Given the description of an element on the screen output the (x, y) to click on. 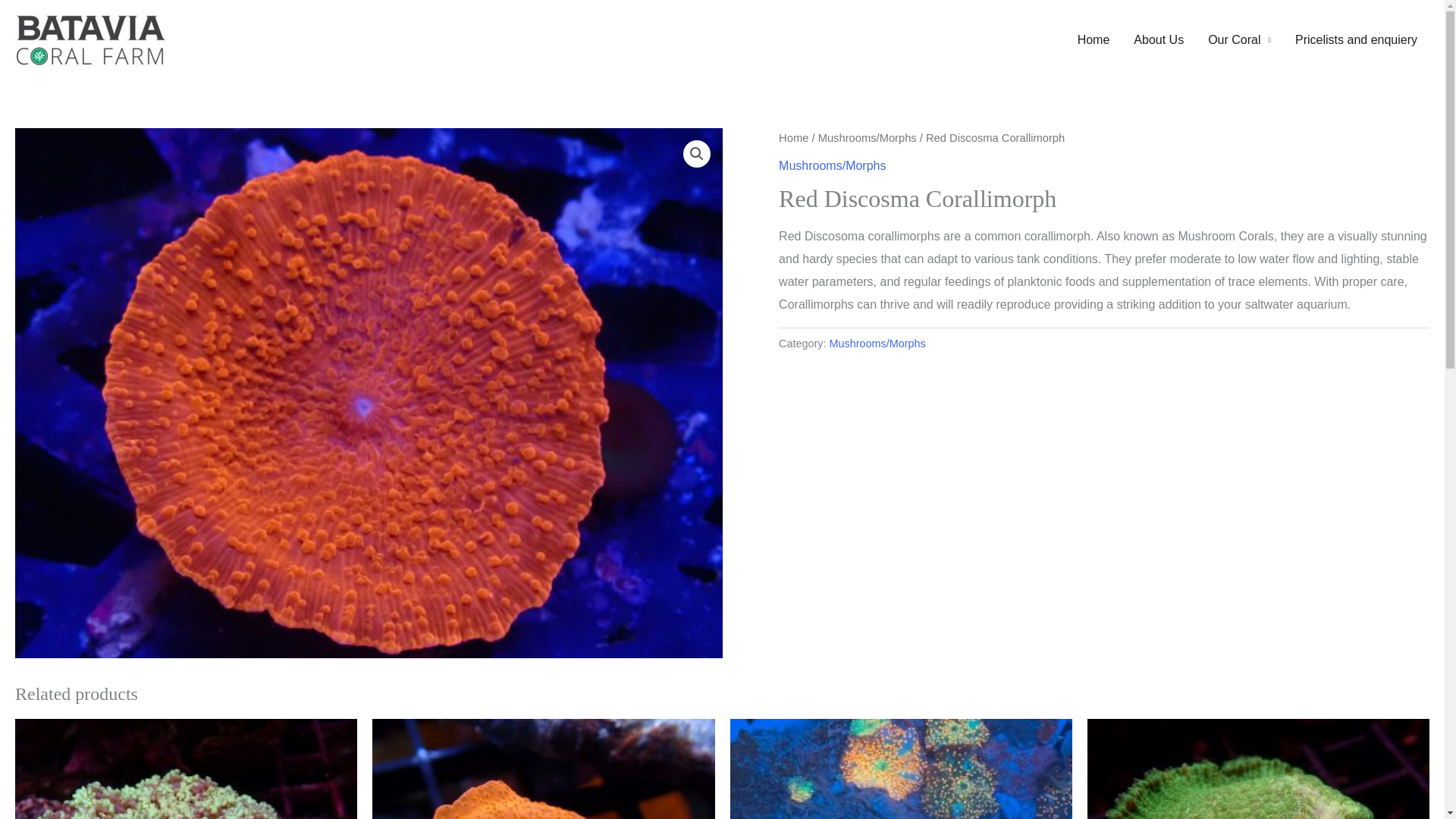
About Us (1158, 39)
Pricelists and enquiery (1355, 39)
Our Coral (1238, 39)
Home (1093, 39)
Home (793, 137)
